Given the description of an element on the screen output the (x, y) to click on. 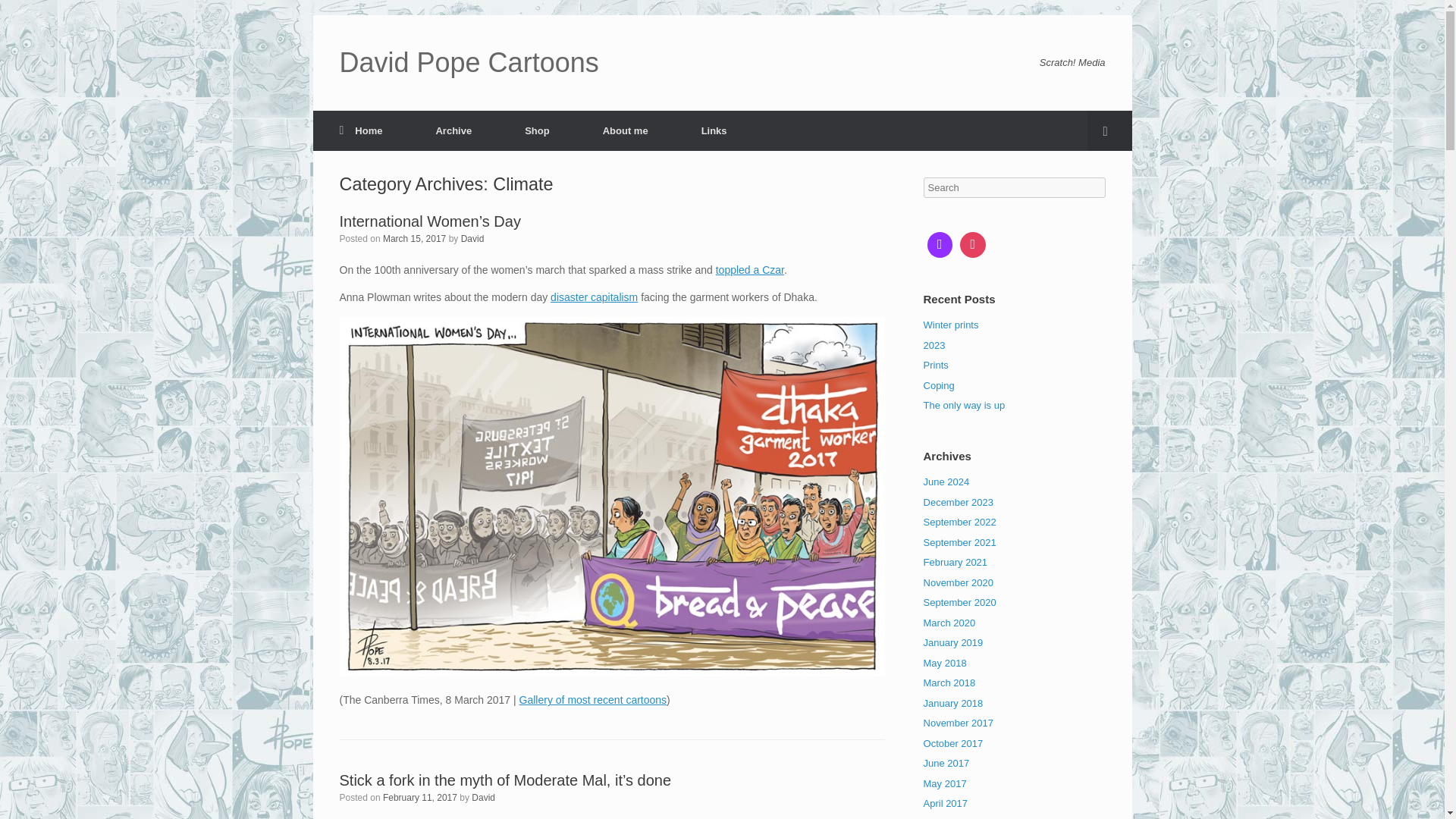
View all posts by David (472, 238)
February 11, 2017 (419, 797)
10:06 am (419, 797)
toppled a Czar (750, 269)
disaster capitalism (593, 297)
Shop (536, 130)
About me (625, 130)
David Pope Cartoons (468, 62)
David (472, 238)
Gallery of most recent cartoons (592, 699)
March 15, 2017 (413, 238)
View all posts by David (483, 797)
David (483, 797)
Links (714, 130)
8:43 am (413, 238)
